Given the description of an element on the screen output the (x, y) to click on. 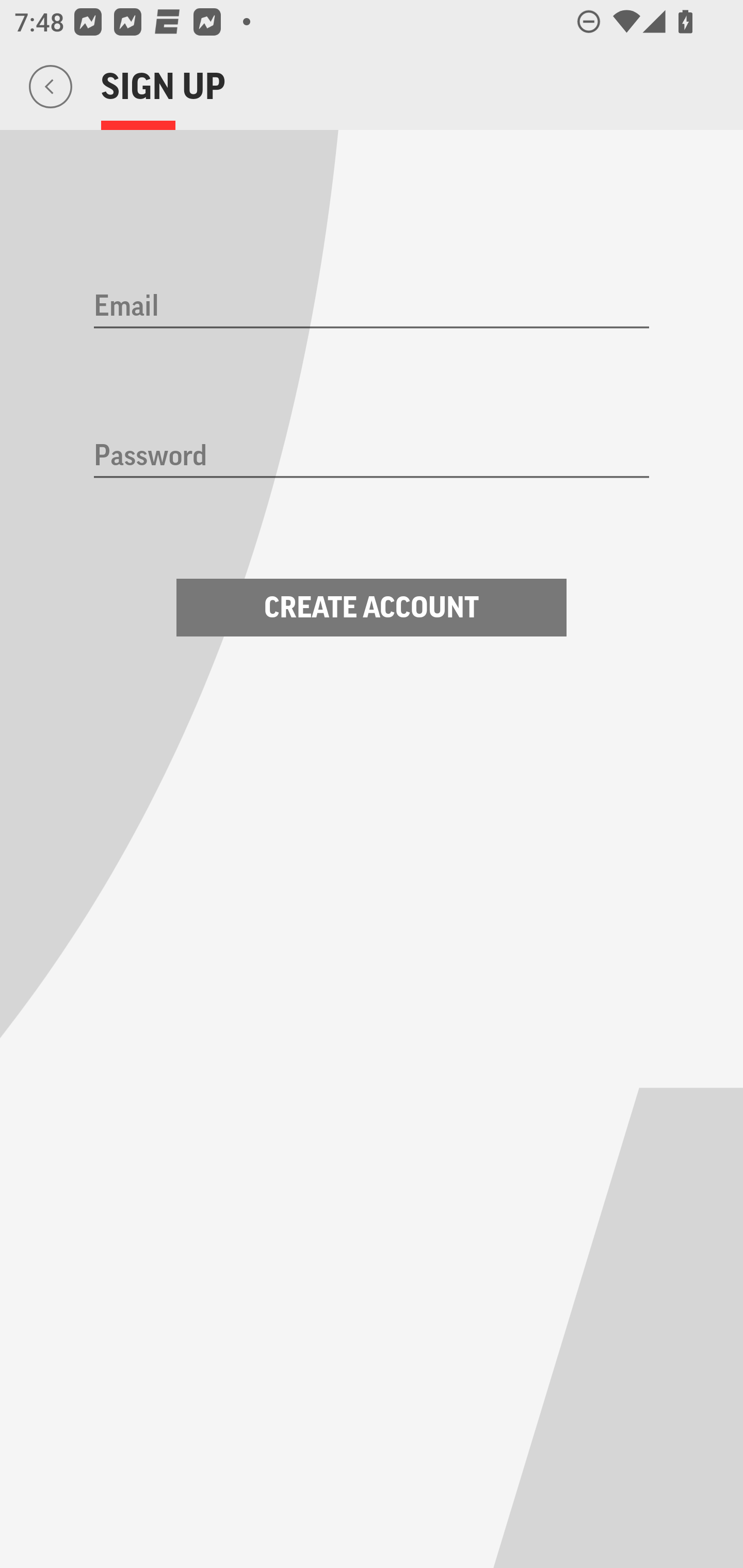
Email (371, 306)
Password (371, 456)
CREATE ACCOUNT (371, 607)
